Given the description of an element on the screen output the (x, y) to click on. 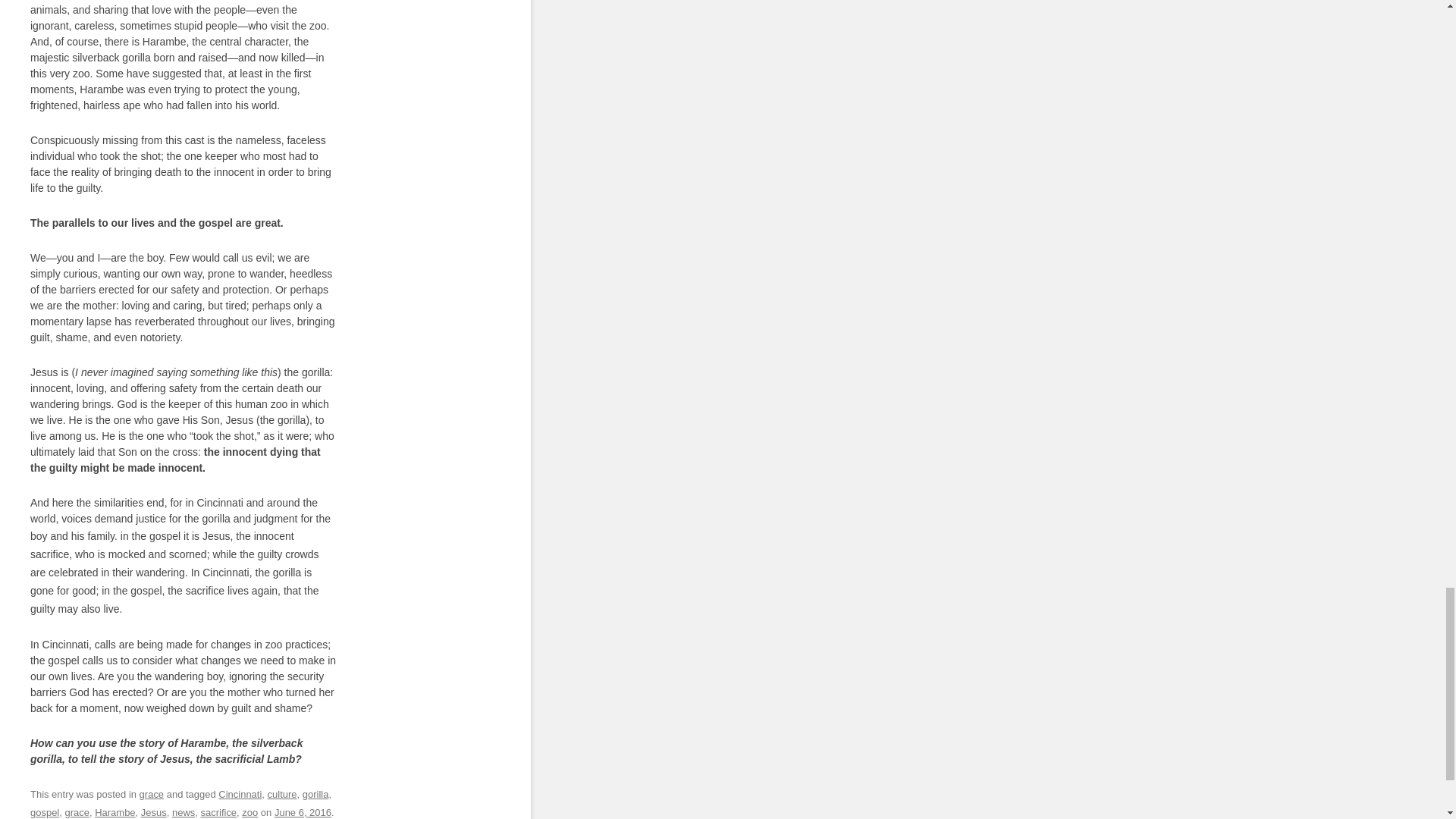
9:09 am (303, 812)
Jesus (154, 812)
Harambe (114, 812)
culture (282, 794)
gospel (44, 812)
gorilla (315, 794)
grace (76, 812)
news (183, 812)
Cincinnati (240, 794)
grace (151, 794)
